Given the description of an element on the screen output the (x, y) to click on. 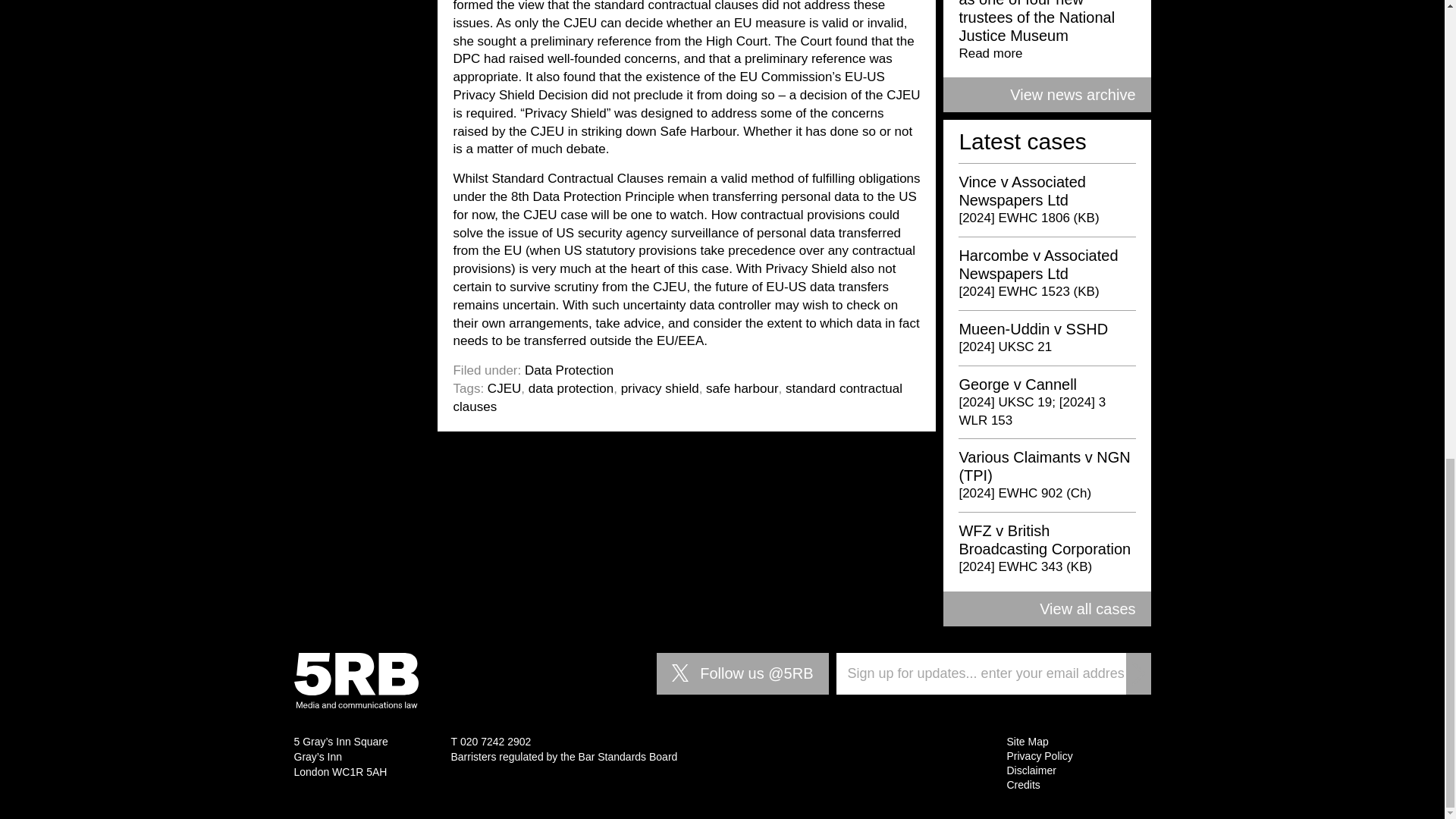
privacy shield (659, 388)
Data Protection (568, 370)
standard contractual clauses (677, 397)
safe harbour (741, 388)
data protection (570, 388)
CJEU (504, 388)
